Given the description of an element on the screen output the (x, y) to click on. 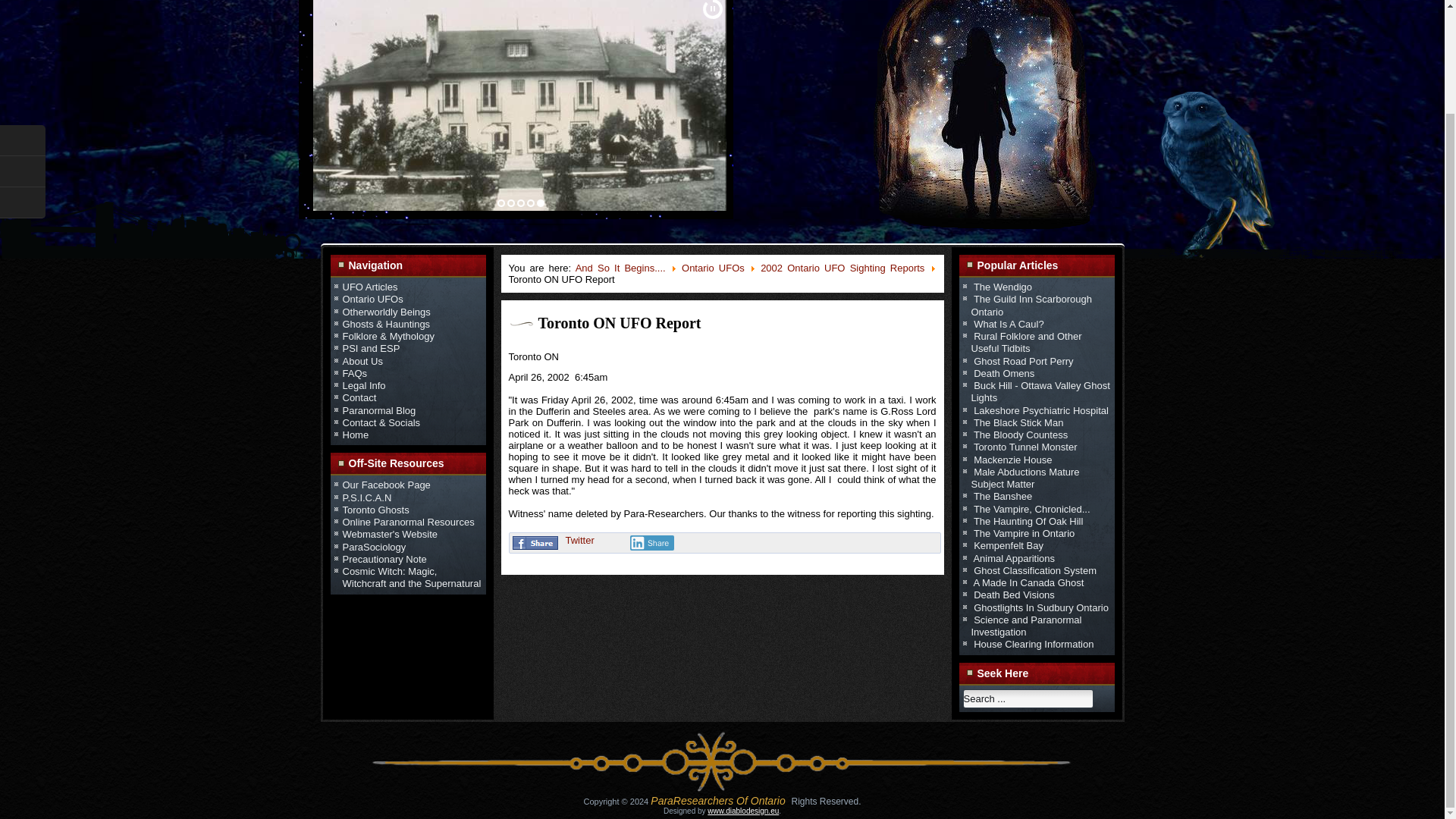
Otherworldly Beings (386, 310)
Ontario UFOs (712, 267)
Twitter (580, 540)
Search ... (1027, 698)
Cosmic Witch: Magic, Witchcraft and the Supernatural (411, 576)
P.S.I.C.A.N (366, 497)
Home (355, 434)
Ontario UFOs (372, 298)
Paranormal Blog (379, 409)
Share (651, 542)
2002 Ontario UFO Sighting Reports (842, 267)
Precautionary Note (384, 559)
Toronto Ghosts (375, 509)
ParaSociology (374, 546)
Toronto ON UFO Report (619, 322)
